Given the description of an element on the screen output the (x, y) to click on. 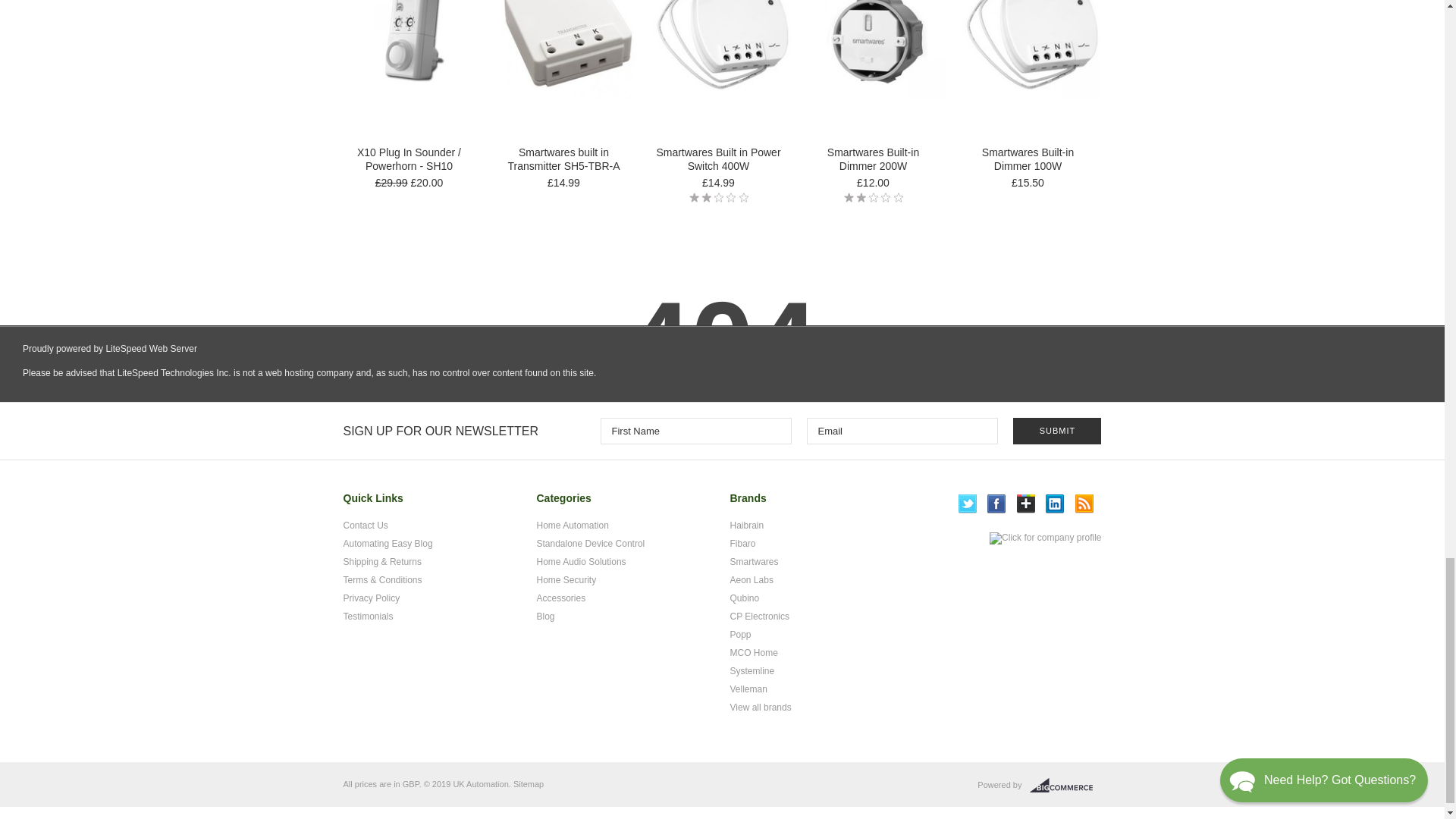
Twitter (967, 503)
Facebook (996, 503)
RSS (1084, 503)
GooglePlus (1025, 503)
Submit (1056, 430)
LinkedIn (1054, 503)
British Pounds (411, 783)
Email (901, 430)
First Name (695, 430)
